Given the description of an element on the screen output the (x, y) to click on. 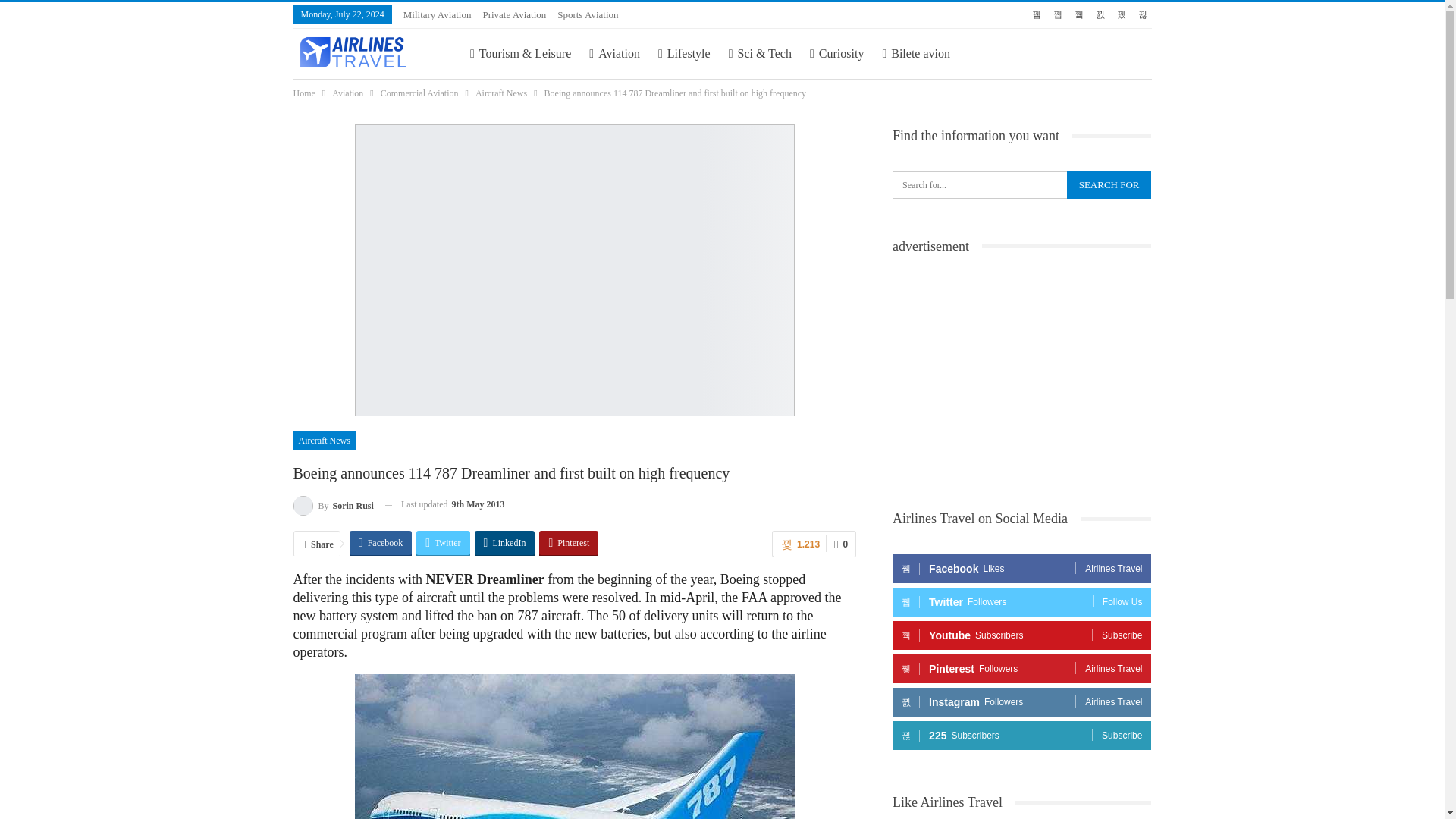
Cauta: (1021, 185)
Search for (1109, 185)
Pinterest (568, 542)
Browse the author's articles (332, 504)
Aircraft News (323, 440)
By Sorin Rusi (332, 504)
Aviation (614, 53)
Aircraft News (501, 93)
Home (303, 93)
Lifestyle (684, 53)
Aviation (346, 93)
tourism (520, 53)
Facebook (380, 542)
Curiosity (837, 53)
Twitter (442, 542)
